Given the description of an element on the screen output the (x, y) to click on. 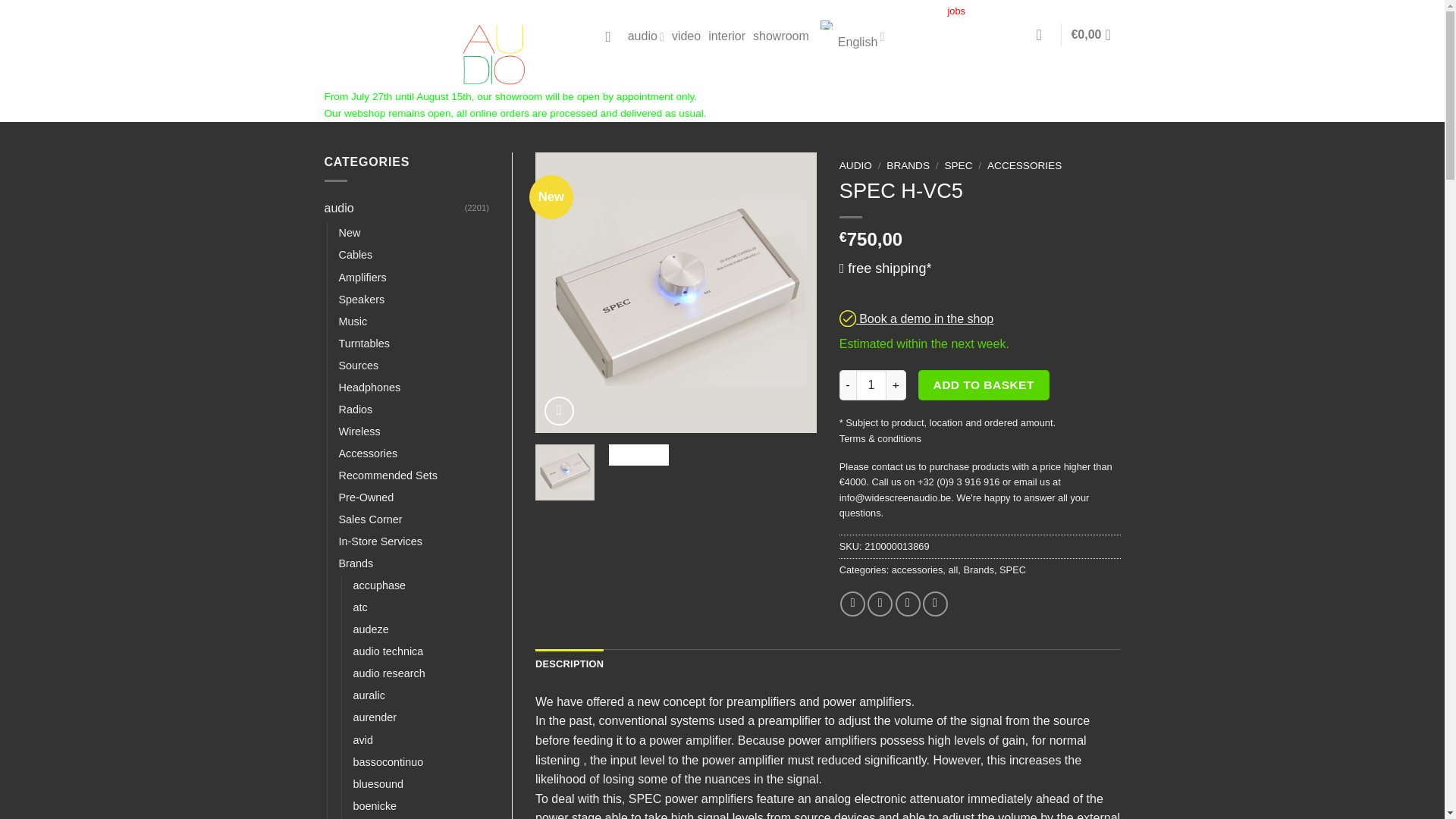
Amplifiers (361, 277)
audio (394, 208)
events (791, 11)
English (850, 36)
Music (351, 321)
audio (645, 36)
Basket (1094, 34)
privacy (1026, 11)
contact (920, 11)
news (828, 11)
Zoom (558, 410)
interior (726, 36)
Speakers (360, 300)
1 (871, 385)
New (348, 232)
